Given the description of an element on the screen output the (x, y) to click on. 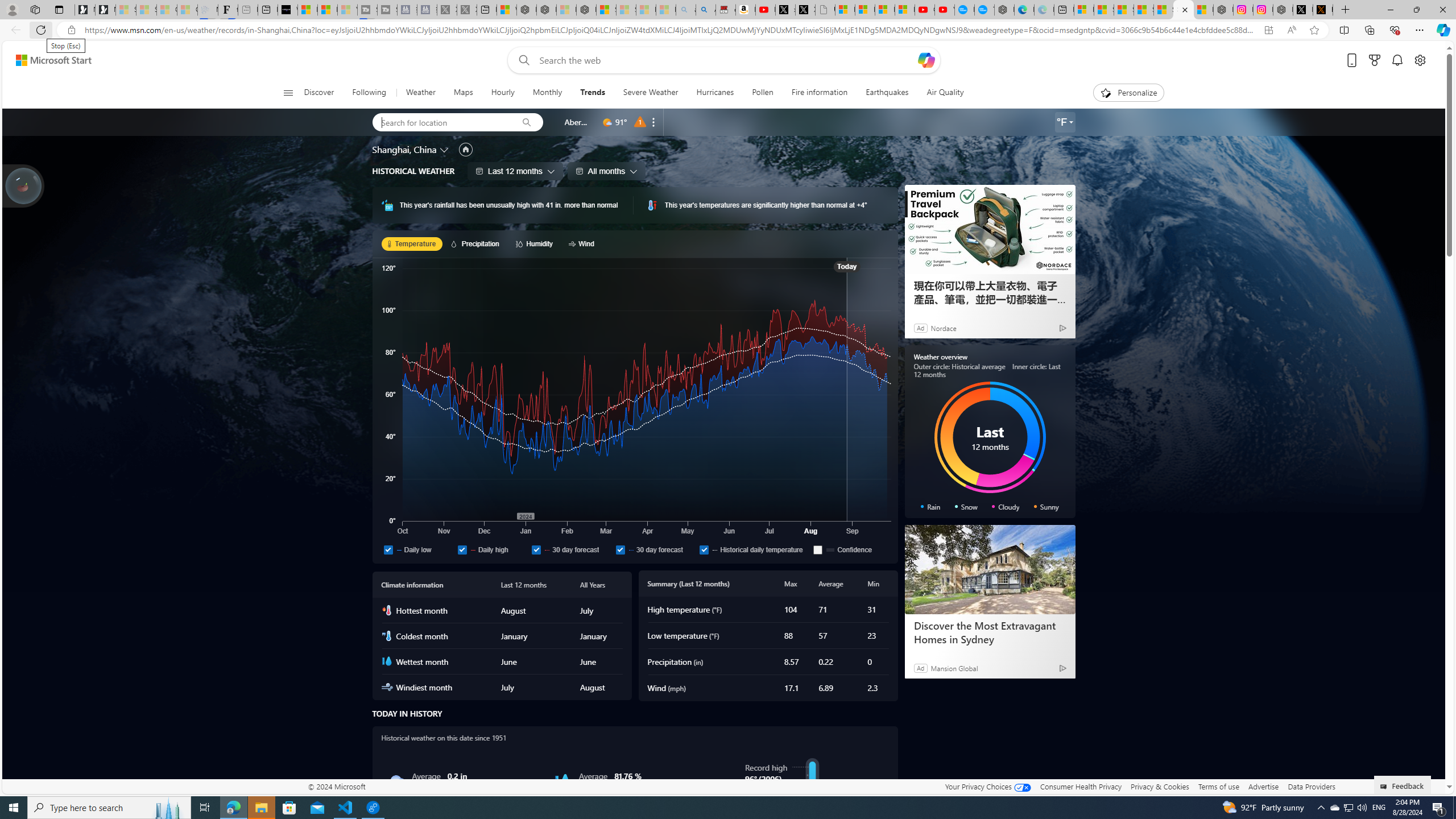
Nordace - Nordace Siena Is Not An Ordinary Backpack (586, 9)
Last 12 months (515, 170)
Daily low (417, 549)
Privacy & Cookies (1160, 785)
Your Privacy Choices (987, 786)
Nordace - Nordace has arrived Hong Kong (1004, 9)
App available. Install Microsoft Start Weather (1268, 29)
Following (370, 92)
Open Copilot (925, 59)
Remove location (653, 122)
Wildlife - MSN (506, 9)
Address and search bar (669, 29)
Restore (1416, 9)
Weather (420, 92)
